Given the description of an element on the screen output the (x, y) to click on. 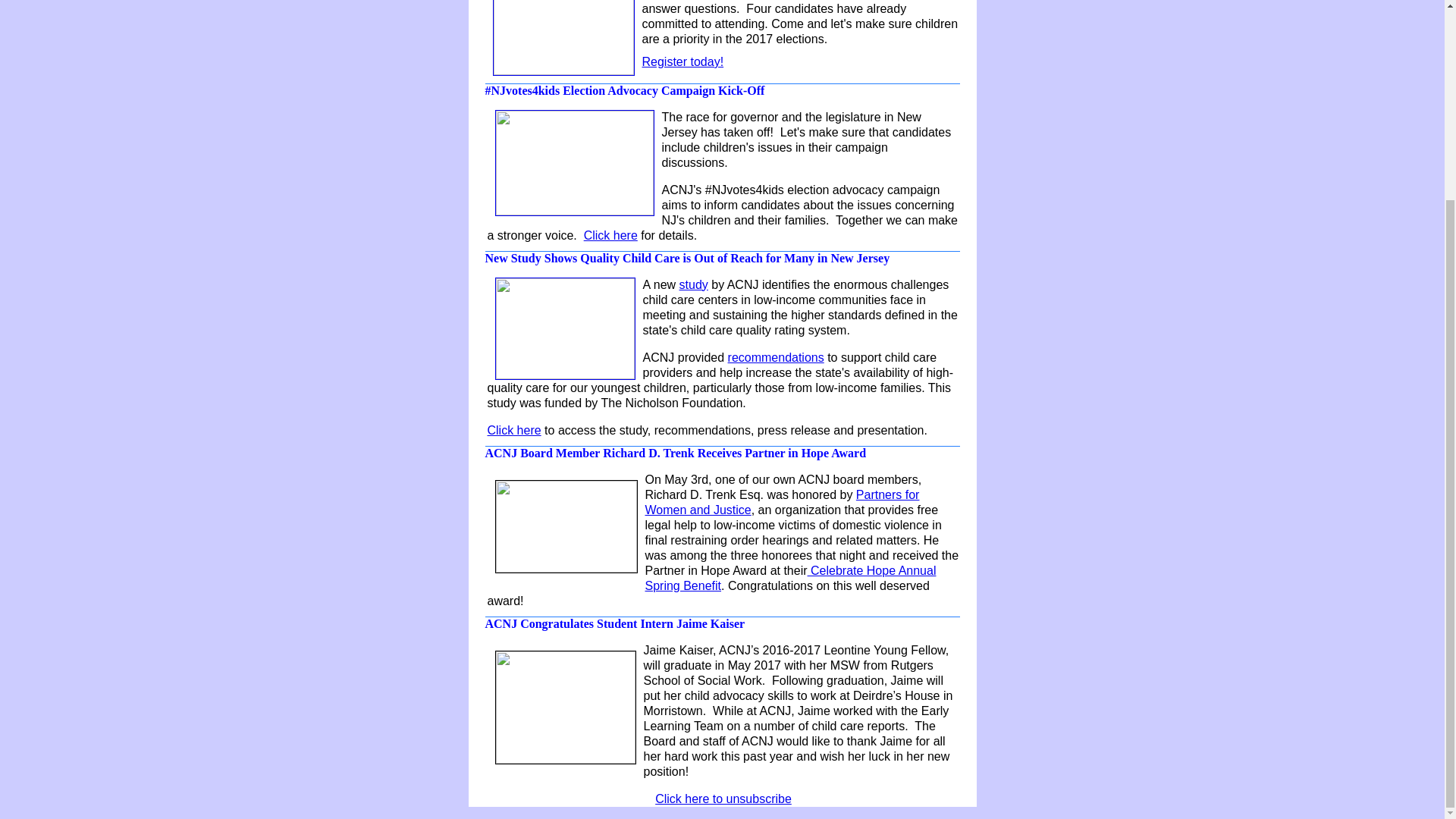
recommendations (776, 357)
Celebrate Hope Annual Spring Benefit (790, 578)
Register today! (682, 61)
study (693, 284)
Click here (610, 235)
Partners for Women and Justice (781, 502)
Click here to unsubscribe (723, 798)
Click here (513, 430)
